Given the description of an element on the screen output the (x, y) to click on. 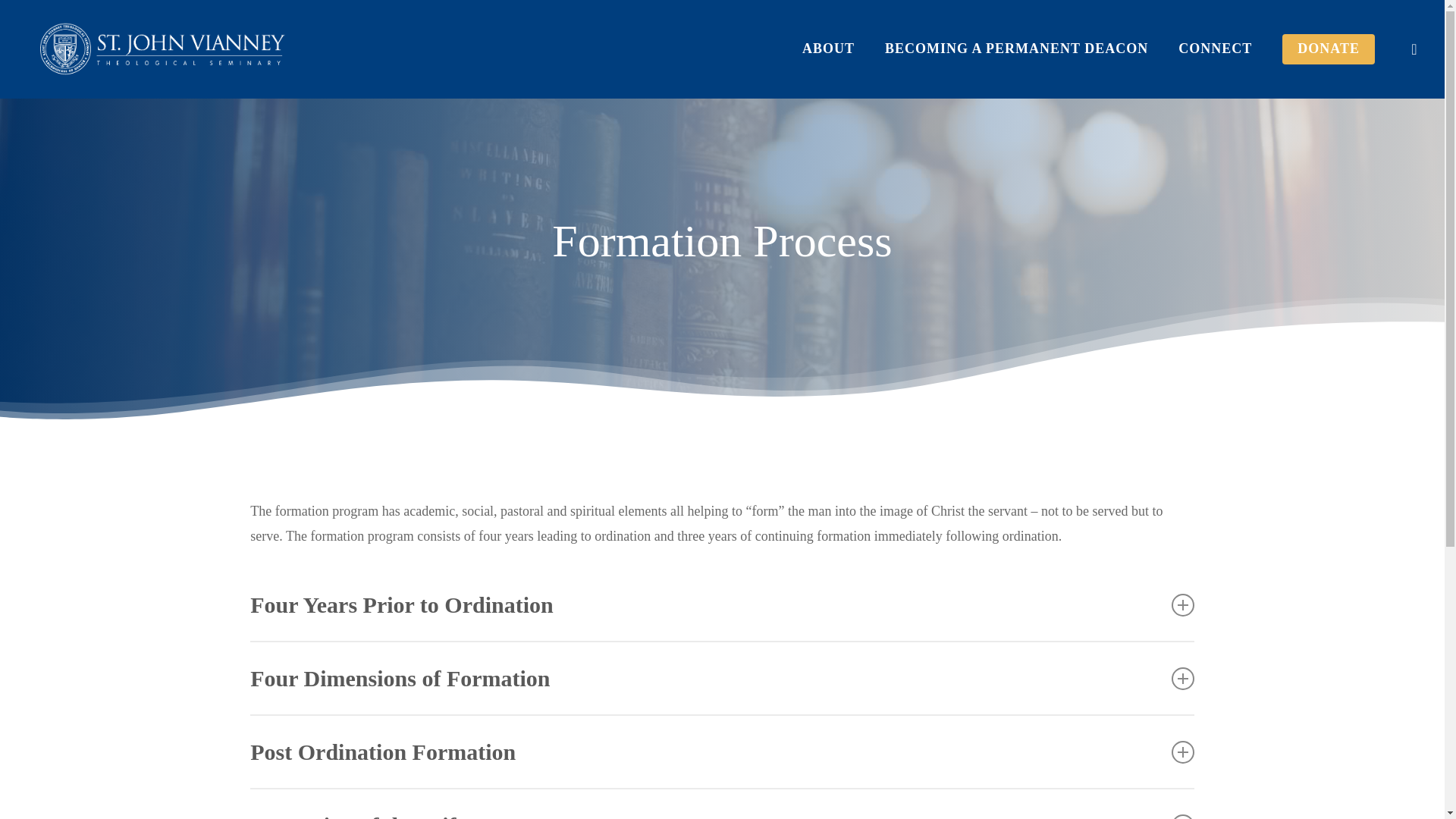
CONNECT (1214, 48)
BECOMING A PERMANENT DEACON (1016, 48)
Formation of the Wife (721, 804)
ABOUT (828, 48)
DONATE (1328, 48)
Post Ordination Formation (721, 751)
Four Dimensions of Formation (721, 678)
search (1414, 48)
Four Years Prior to Ordination (721, 604)
